Given the description of an element on the screen output the (x, y) to click on. 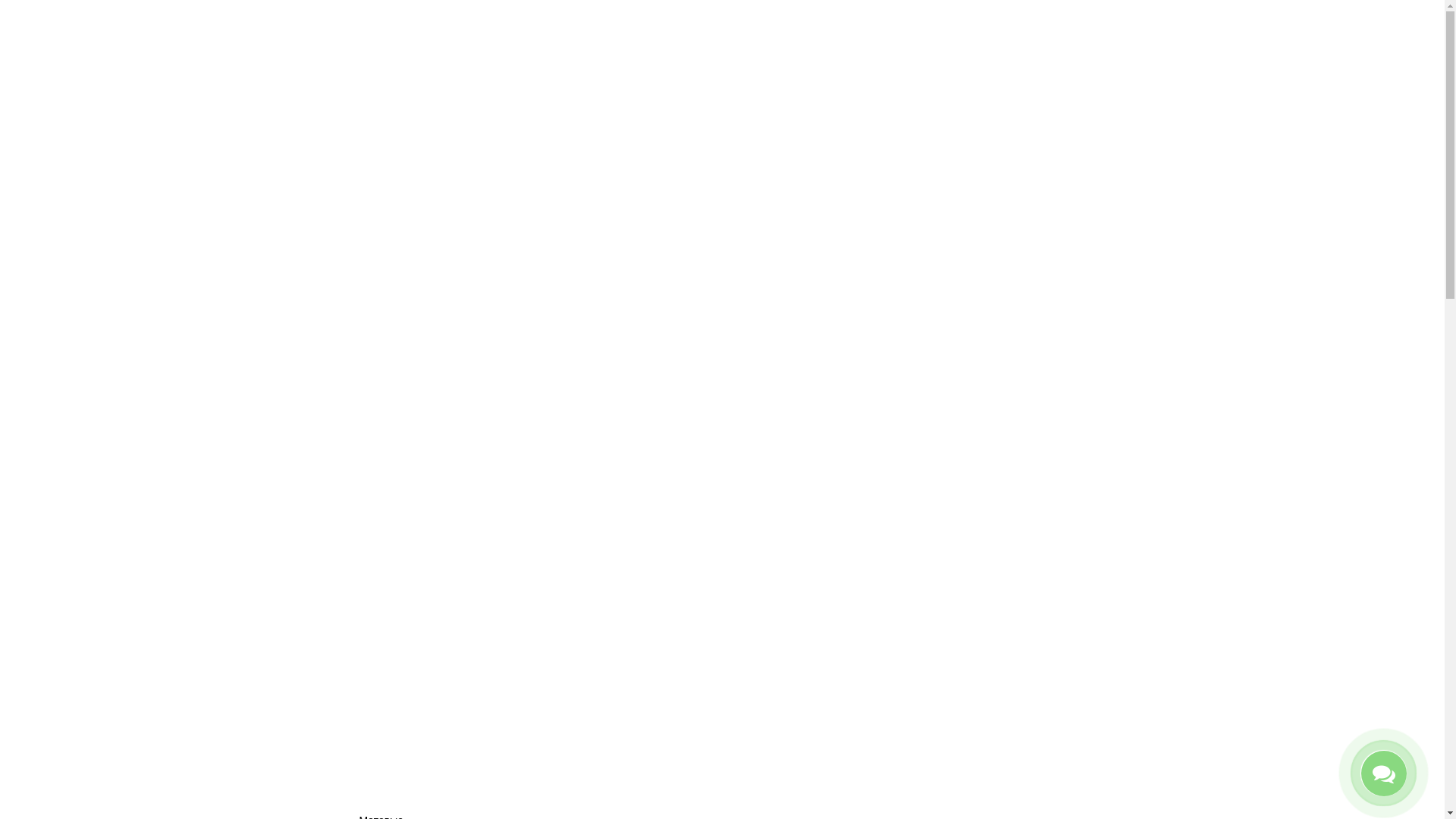
+375 (44) 530-13-02 Element type: text (736, 90)
Niemann Element type: text (409, 764)
Kastamonu Element type: text (409, 708)
+375 (29) 163-28-32 Element type: text (736, 111)
+375 (29) 850-25-03 Element type: text (740, 131)
